Given the description of an element on the screen output the (x, y) to click on. 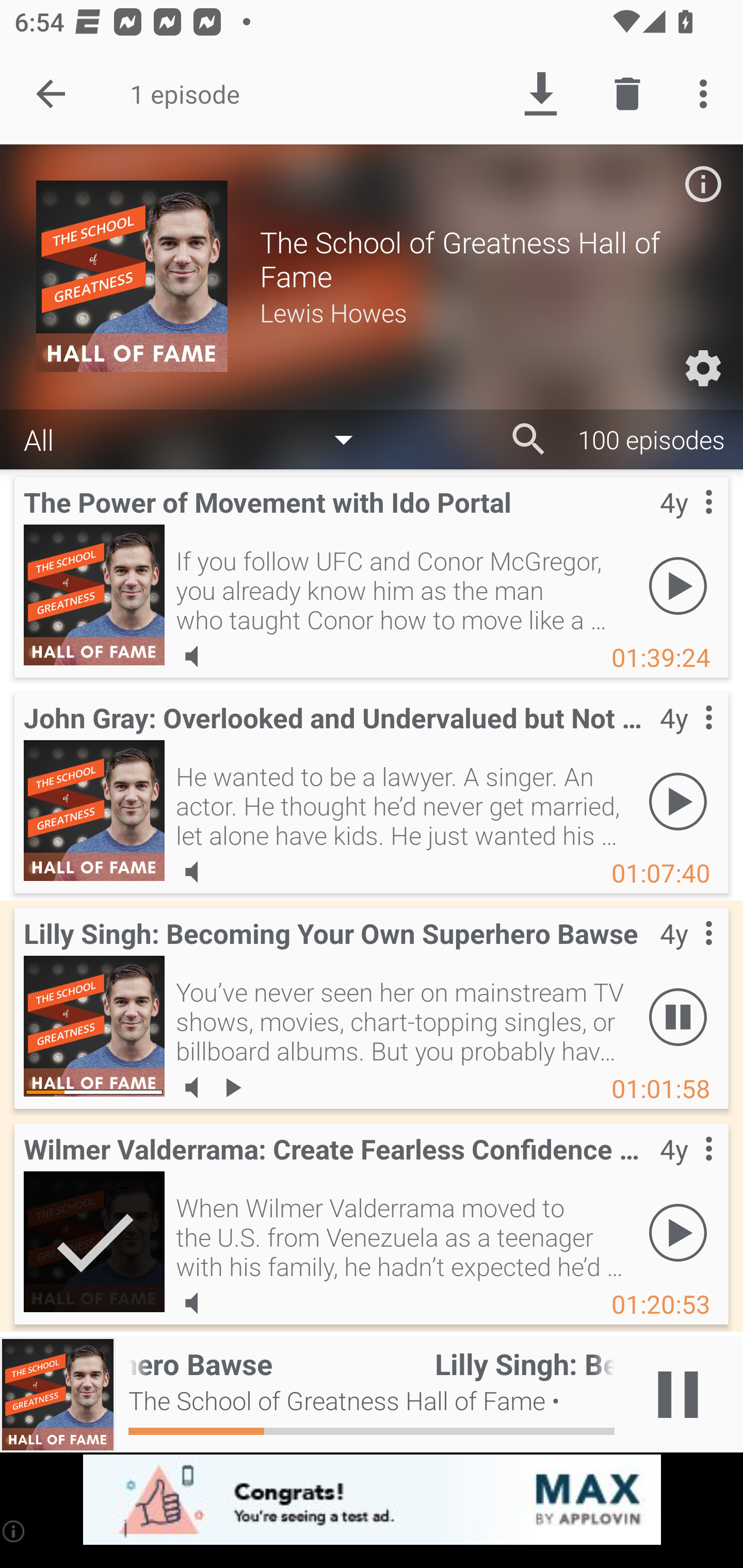
Done (50, 93)
Download (540, 93)
Delete episode (626, 93)
More options (706, 93)
Podcast description (703, 184)
Lewis Howes (483, 311)
Custom Settings (703, 368)
Search (528, 439)
All (197, 438)
Contextual menu (685, 522)
The Power of Movement with Ido Portal (93, 594)
Play (677, 585)
Contextual menu (685, 738)
Play (677, 801)
Contextual menu (685, 954)
Lilly Singh: Becoming Your Own Superhero Bawse (93, 1026)
Pause (677, 1016)
Contextual menu (685, 1169)
Play (677, 1232)
Play / Pause (677, 1394)
app-monetization (371, 1500)
(i) (14, 1531)
